Given the description of an element on the screen output the (x, y) to click on. 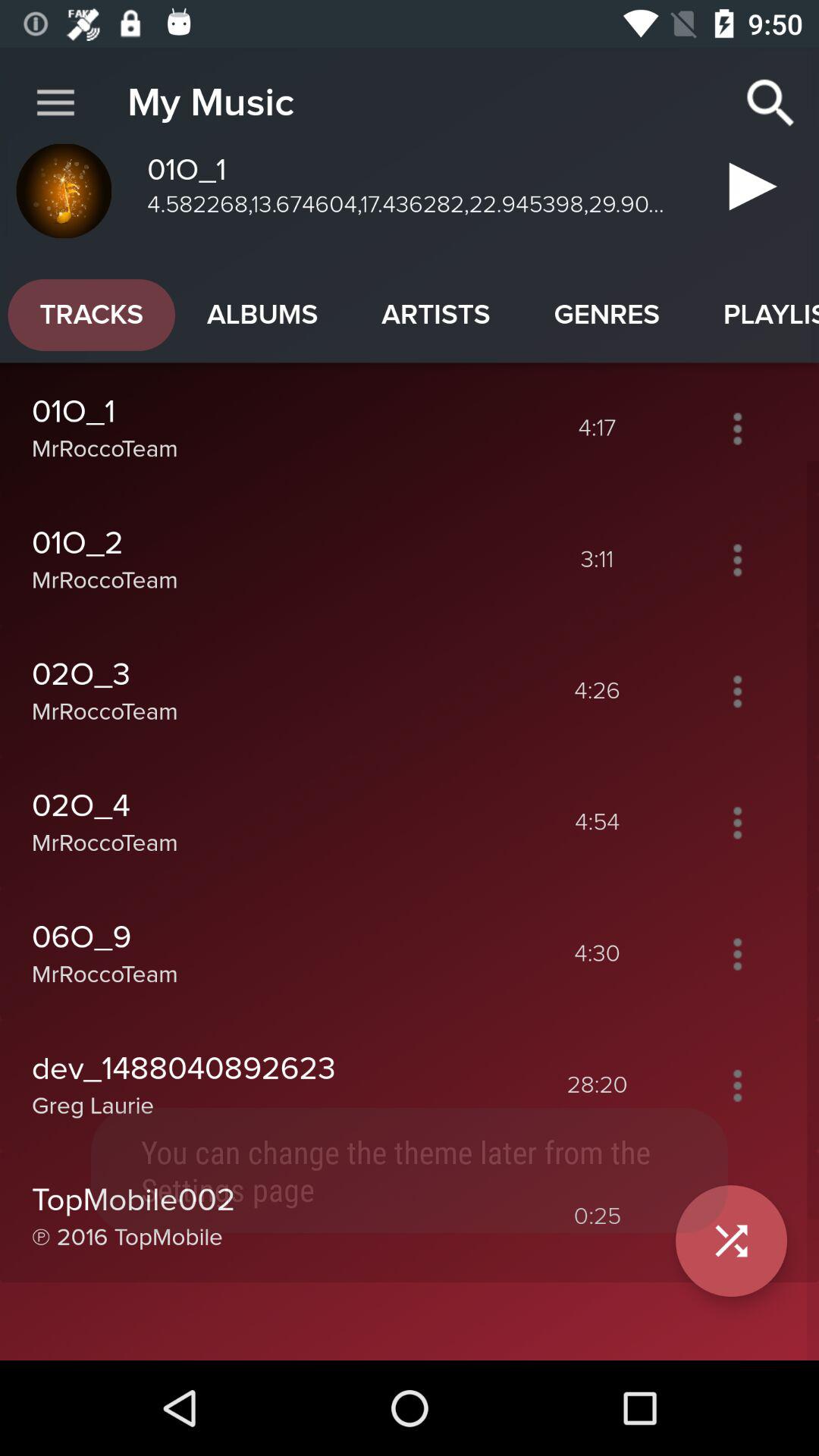
press item to the right of albums item (435, 314)
